Given the description of an element on the screen output the (x, y) to click on. 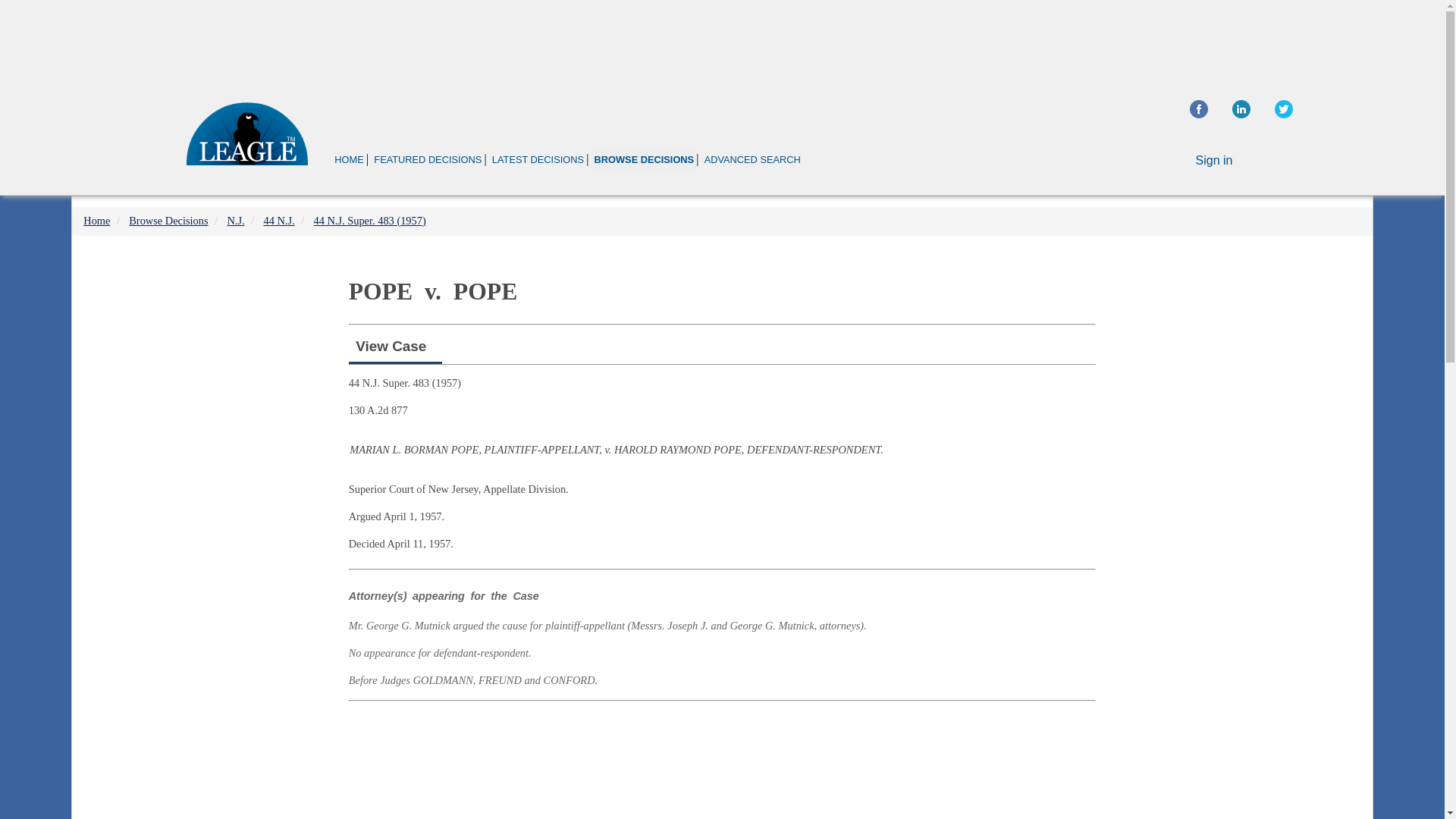
Home (96, 220)
Browse Decisions (168, 220)
ADVANCED SEARCH (752, 159)
View Case (390, 345)
BROWSE DECISIONS (643, 159)
N.J. (235, 220)
44 N.J. (278, 220)
LATEST DECISIONS (537, 159)
FEATURED DECISIONS (427, 159)
Sign in (1214, 160)
